Given the description of an element on the screen output the (x, y) to click on. 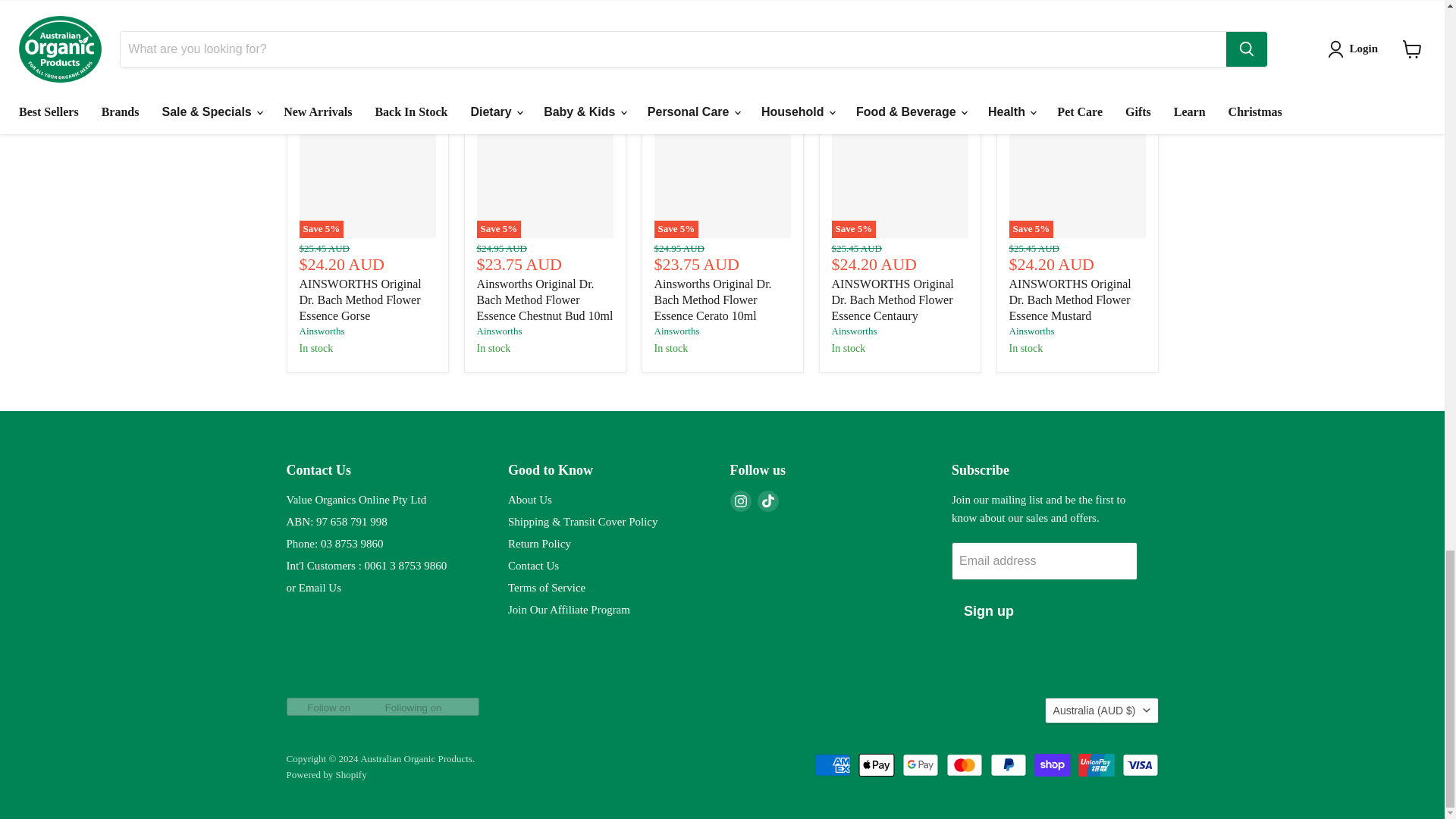
Ainsworths (498, 330)
American Express (831, 764)
Instagram (740, 500)
Ainsworths (853, 330)
Ainsworths (675, 330)
Ainsworths (1031, 330)
TikTok (767, 500)
Ainsworths (320, 330)
